Given the description of an element on the screen output the (x, y) to click on. 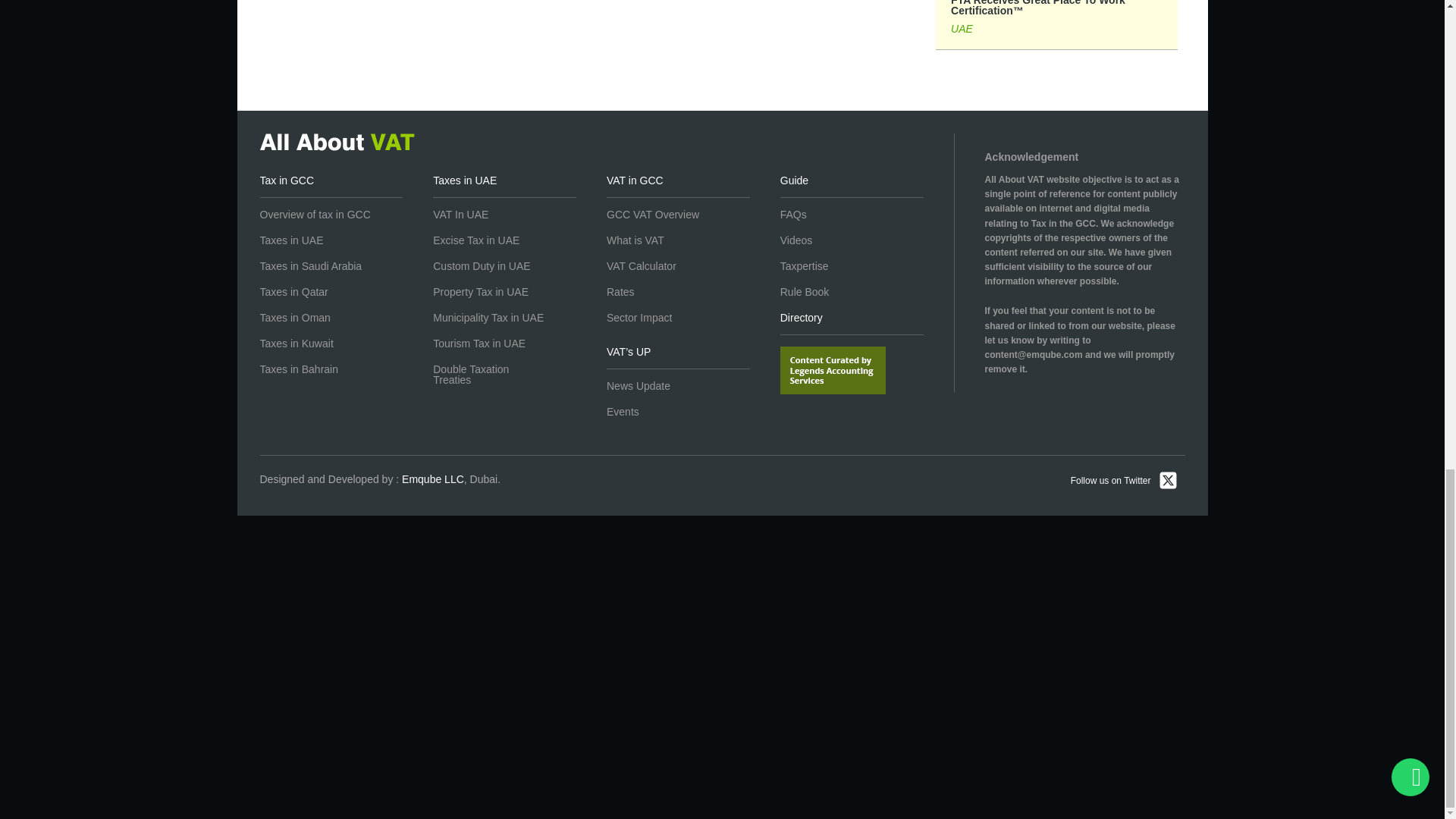
Follow us on Twitter (1123, 481)
emqube.com (432, 479)
Advertisement (721, 557)
